Given the description of an element on the screen output the (x, y) to click on. 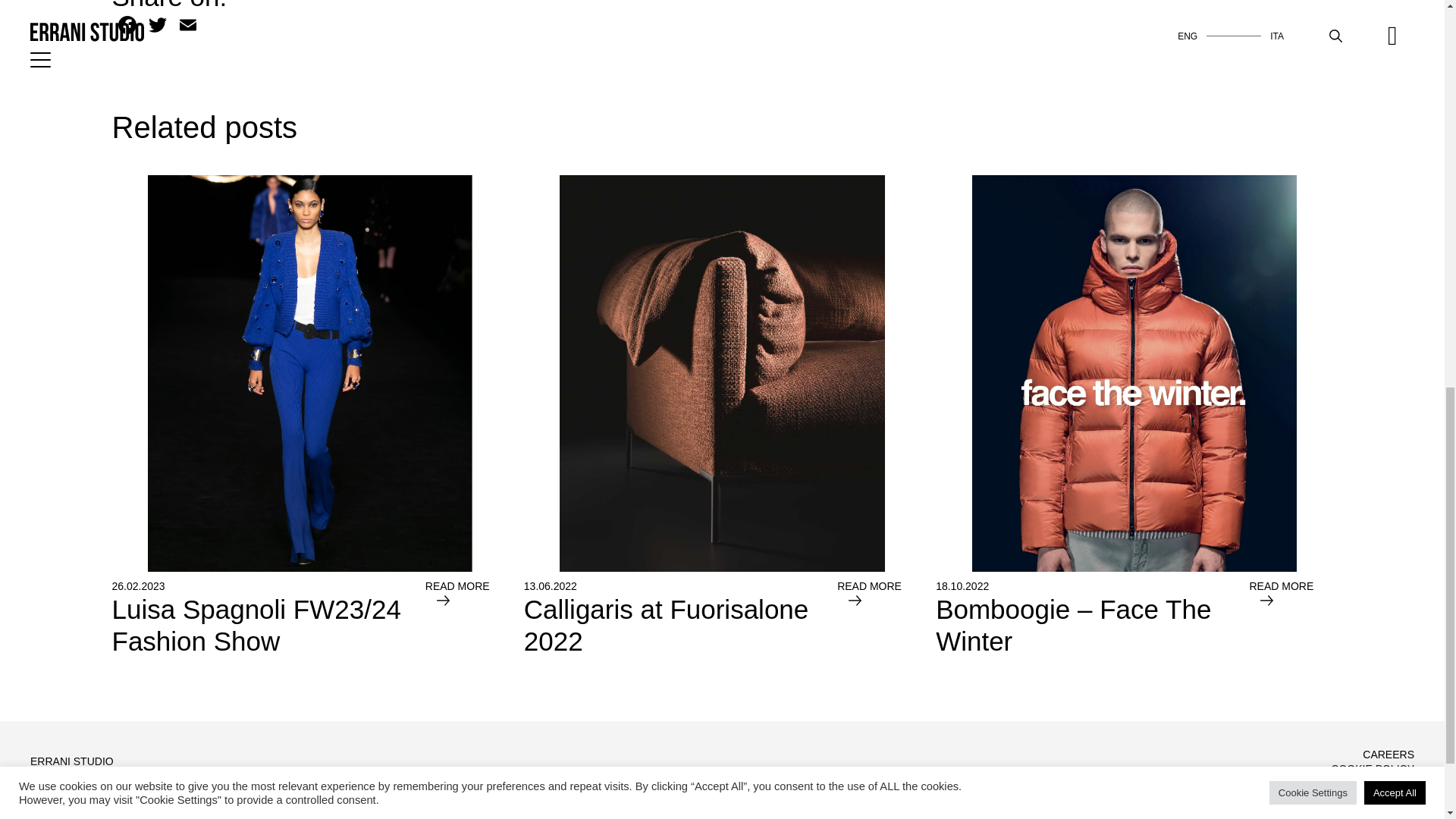
CAREERS (1387, 754)
Facebook (127, 26)
COOKIE POLICY (1371, 768)
PRIVACY POLICY (1369, 783)
Facebook (127, 26)
Twitter (157, 26)
Email (680, 618)
READ MORE (188, 26)
READ MORE (878, 618)
Email (466, 618)
READ MORE (188, 26)
Twitter (1290, 618)
